Given the description of an element on the screen output the (x, y) to click on. 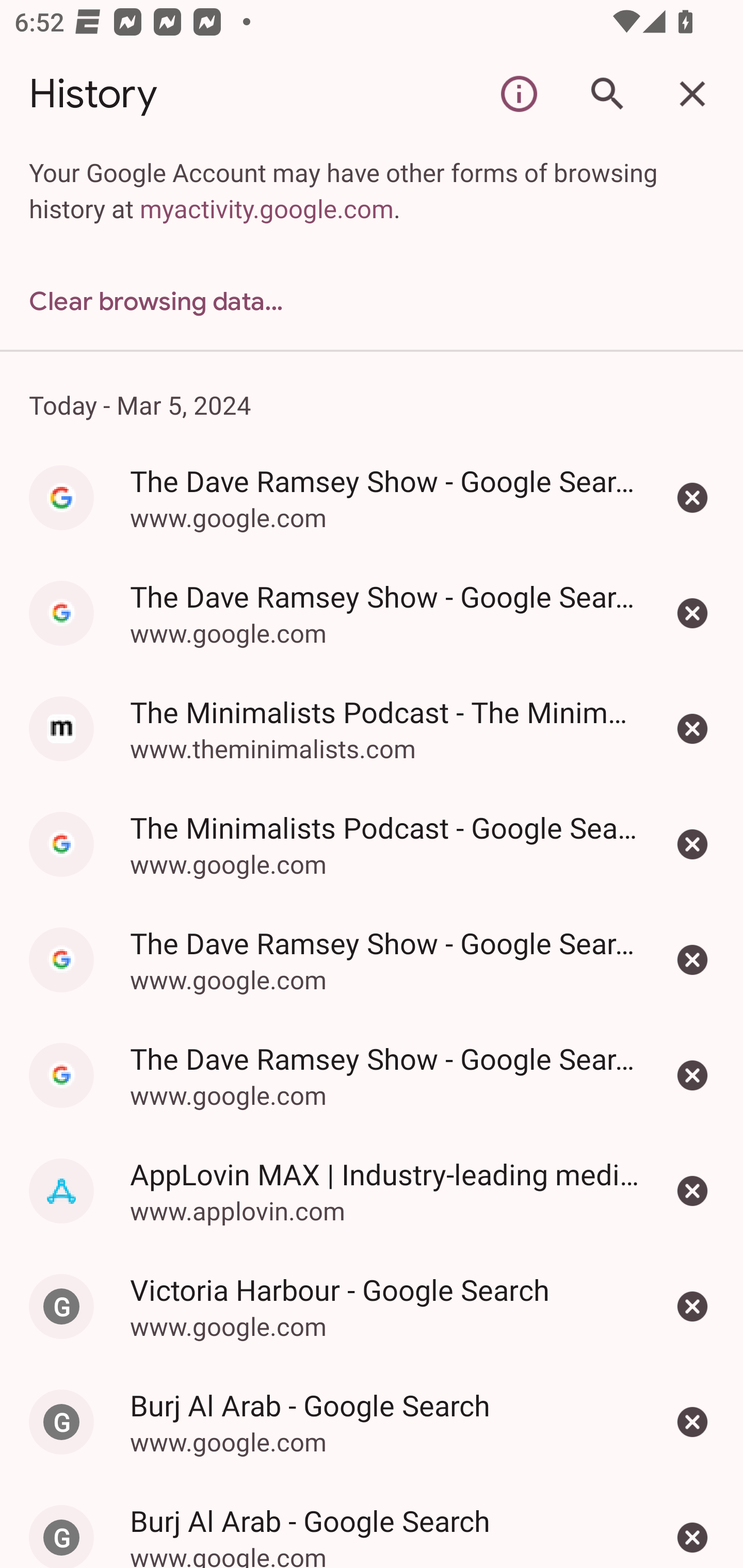
Hide Info (518, 93)
Search (605, 93)
Close (692, 93)
Clear browsing data… (371, 301)
The Dave Ramsey Show - Google Search Remove (692, 497)
The Dave Ramsey Show - Google Search Remove (692, 613)
The Minimalists Podcast - The Minimalists Remove (692, 729)
The Minimalists Podcast - Google Search Remove (692, 844)
The Dave Ramsey Show - Google Search Remove (692, 959)
The Dave Ramsey Show - Google Search Remove (692, 1075)
Victoria Harbour - Google Search Remove (692, 1306)
Burj Al Arab - Google Search Remove (692, 1422)
Burj Al Arab - Google Search Remove (692, 1524)
